Given the description of an element on the screen output the (x, y) to click on. 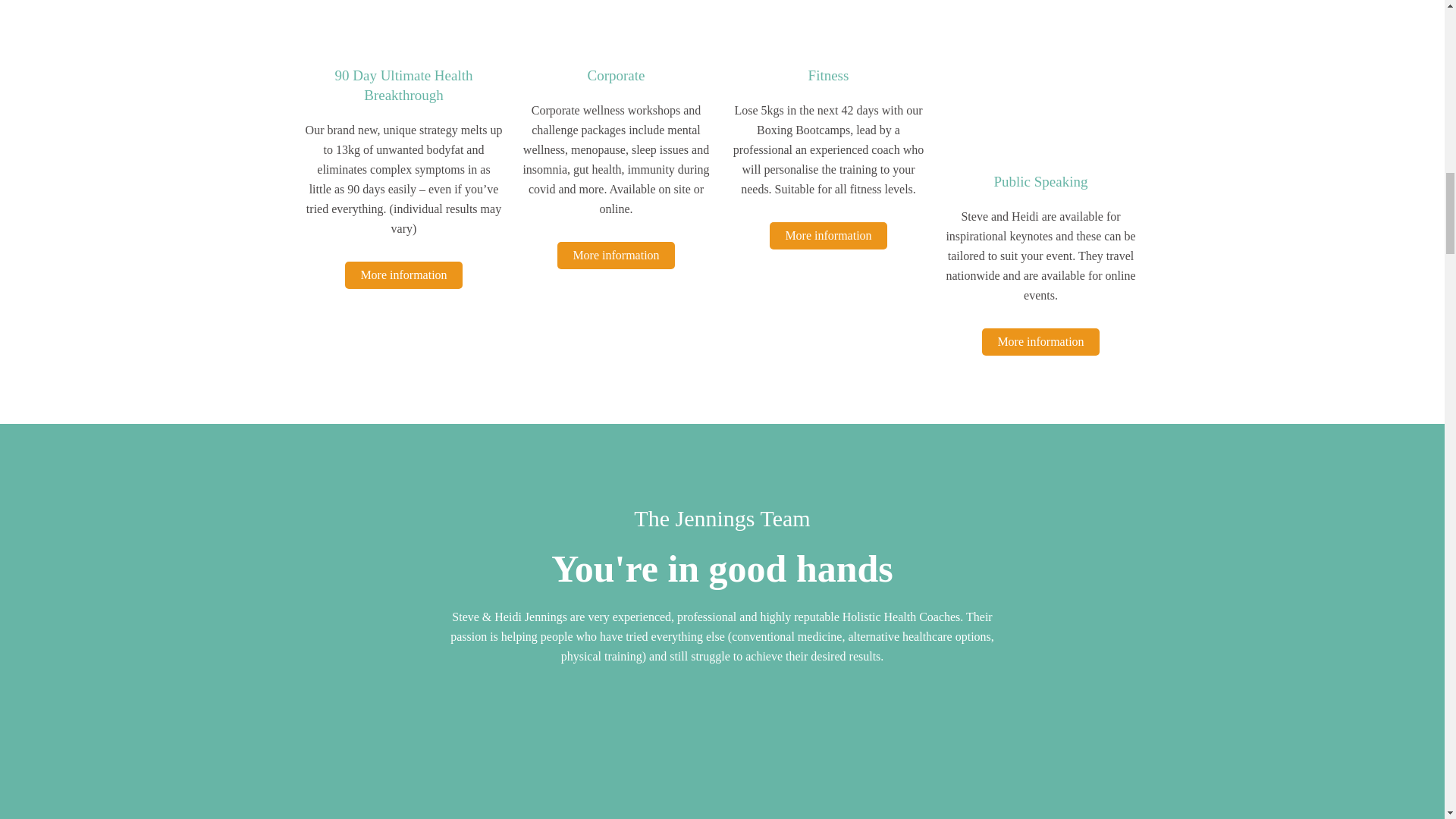
More information (403, 275)
More information (615, 255)
Fitness (828, 75)
More information (828, 235)
